Given the description of an element on the screen output the (x, y) to click on. 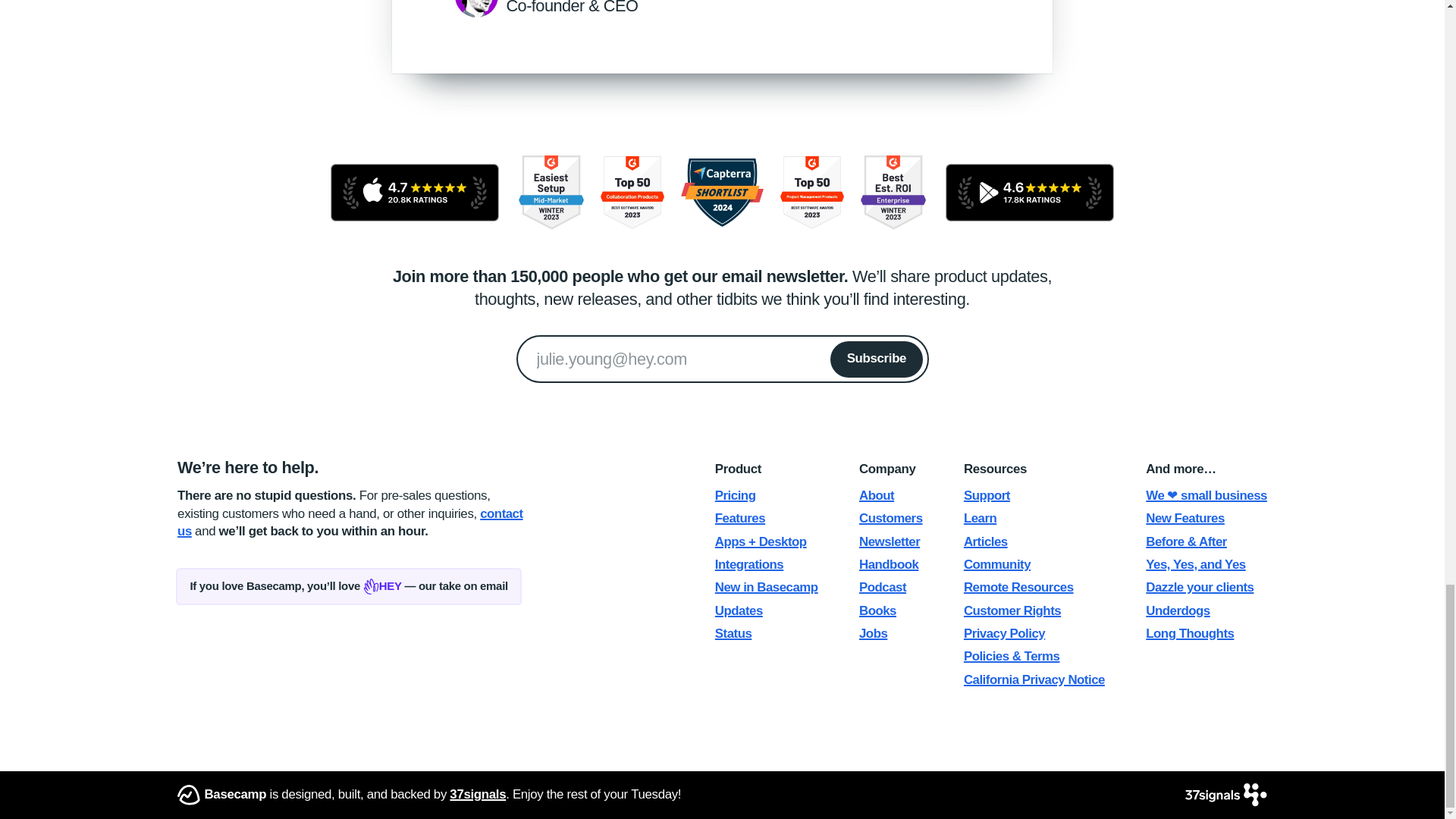
Learn (979, 518)
California Privacy Notice (1034, 679)
New Features (1184, 518)
Status (733, 633)
Handbook (888, 564)
Podcast (882, 586)
Support (986, 495)
Jobs (872, 633)
Dazzle your clients (1199, 586)
Updates (738, 610)
